Given the description of an element on the screen output the (x, y) to click on. 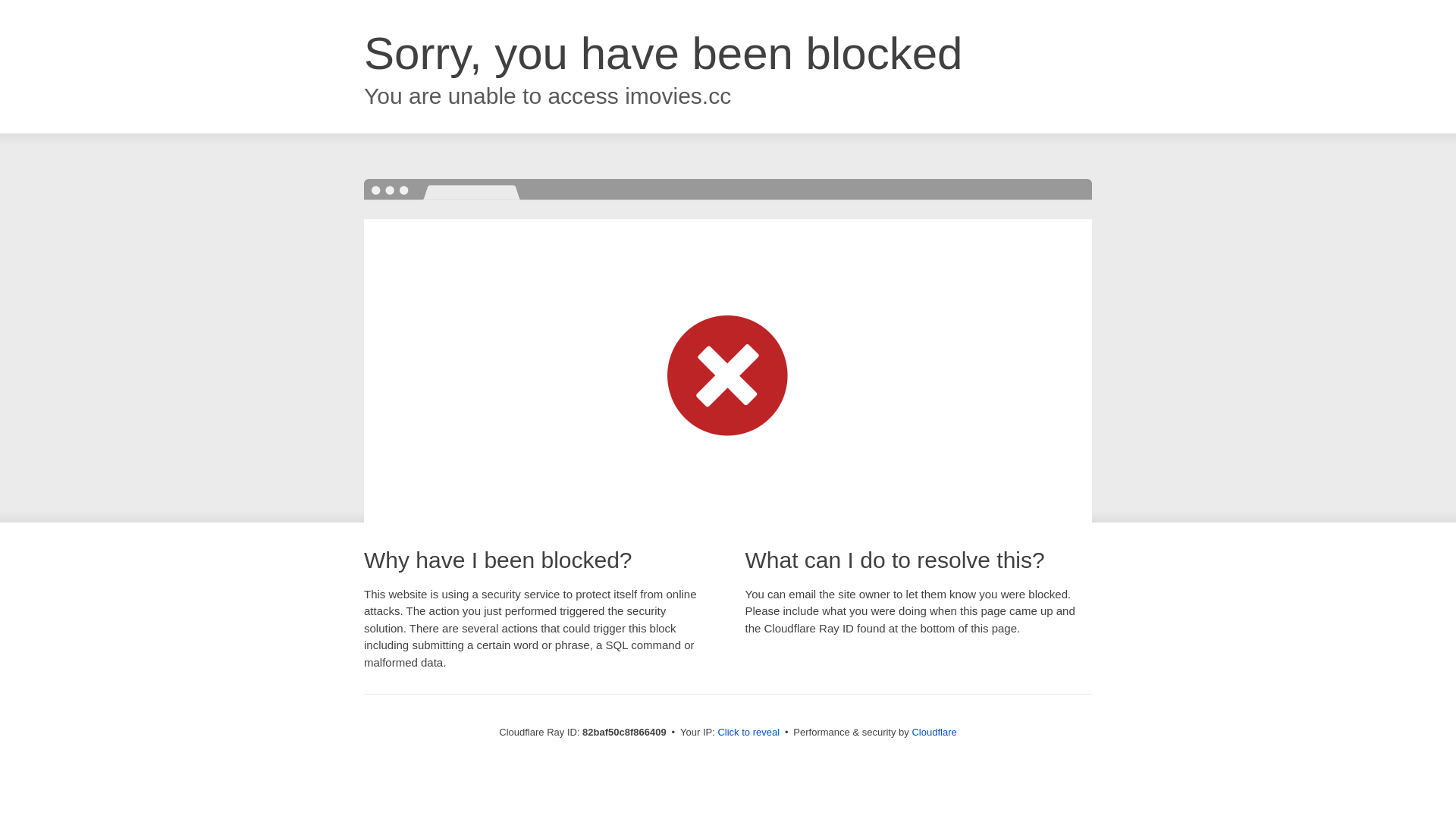
Cloudflare Element type: text (933, 731)
Click to reveal Element type: text (748, 732)
